Given the description of an element on the screen output the (x, y) to click on. 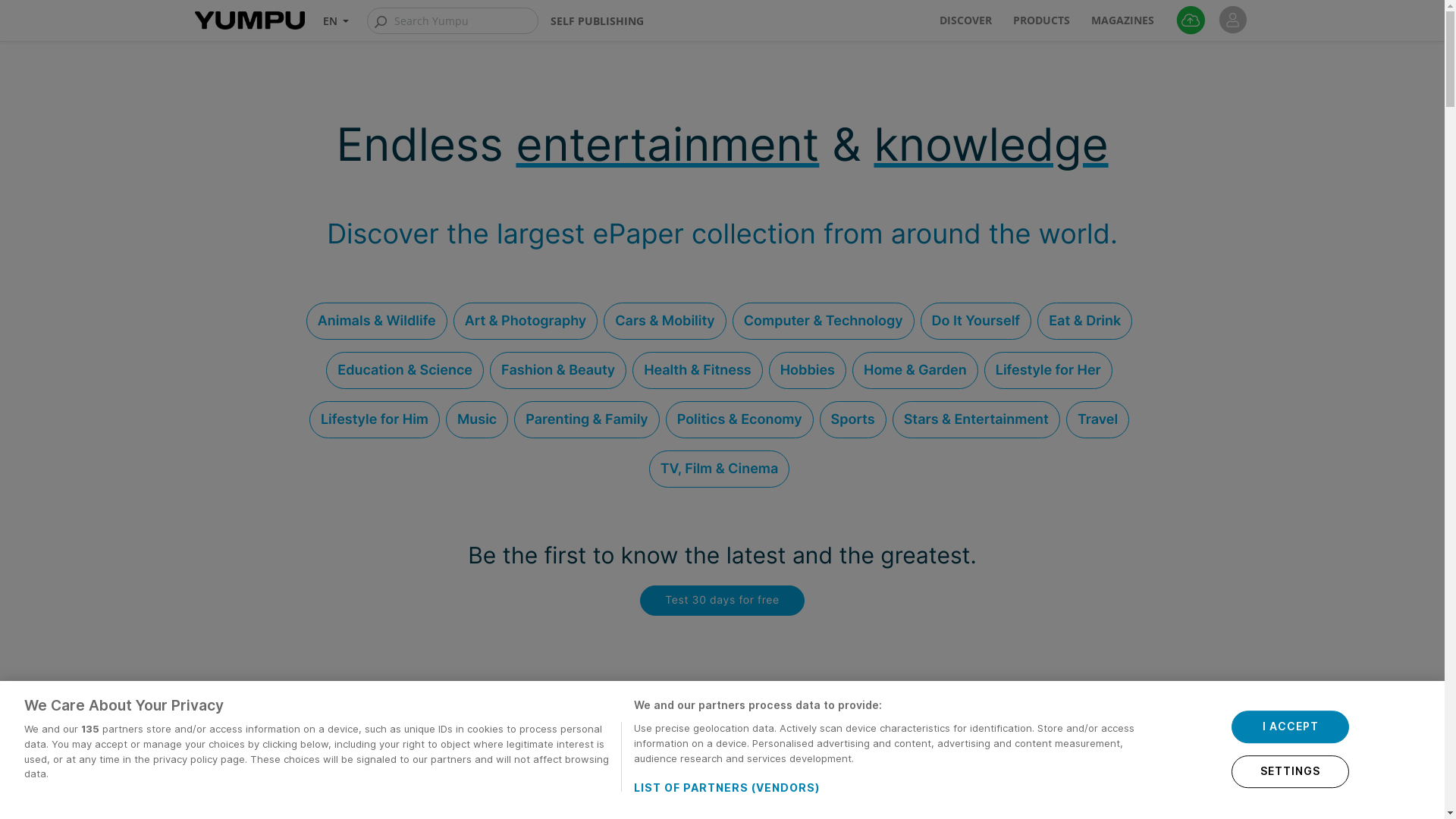
Lifestyle for Him Element type: text (374, 419)
Fashion & Beauty Element type: text (557, 370)
Stars & Entertainment Element type: text (976, 419)
Lifestyle for Her Element type: text (1048, 370)
Yumpu Element type: hover (246, 19)
Parenting & Family Element type: text (586, 419)
DISCOVER Element type: text (966, 20)
I ACCEPT Element type: text (1290, 726)
EN Element type: text (336, 20)
Computer & Technology Element type: text (823, 320)
Home & Garden Element type: text (915, 370)
Upload my PDF here Element type: hover (1190, 20)
Art & Photography Element type: text (525, 320)
Hobbies Element type: text (807, 370)
Health & Fitness Element type: text (697, 370)
Do It Yourself Element type: text (976, 320)
Cars & Mobility Element type: text (664, 320)
SETTINGS Element type: text (1290, 771)
LIST OF PARTNERS (VENDORS) Element type: text (737, 786)
Test 30 days for free Element type: text (722, 600)
Animals & Wildlife Element type: text (376, 320)
MAGAZINES Element type: text (1124, 20)
Music Element type: text (476, 419)
PRODUCTS Element type: text (1043, 20)
SELF PUBLISHING Element type: text (596, 20)
Politics & Economy Element type: text (739, 419)
Education & Science Element type: text (404, 370)
Travel Element type: text (1097, 419)
TV, Film & Cinema Element type: text (719, 468)
Sports Element type: text (852, 419)
Eat & Drink Element type: text (1084, 320)
